Given the description of an element on the screen output the (x, y) to click on. 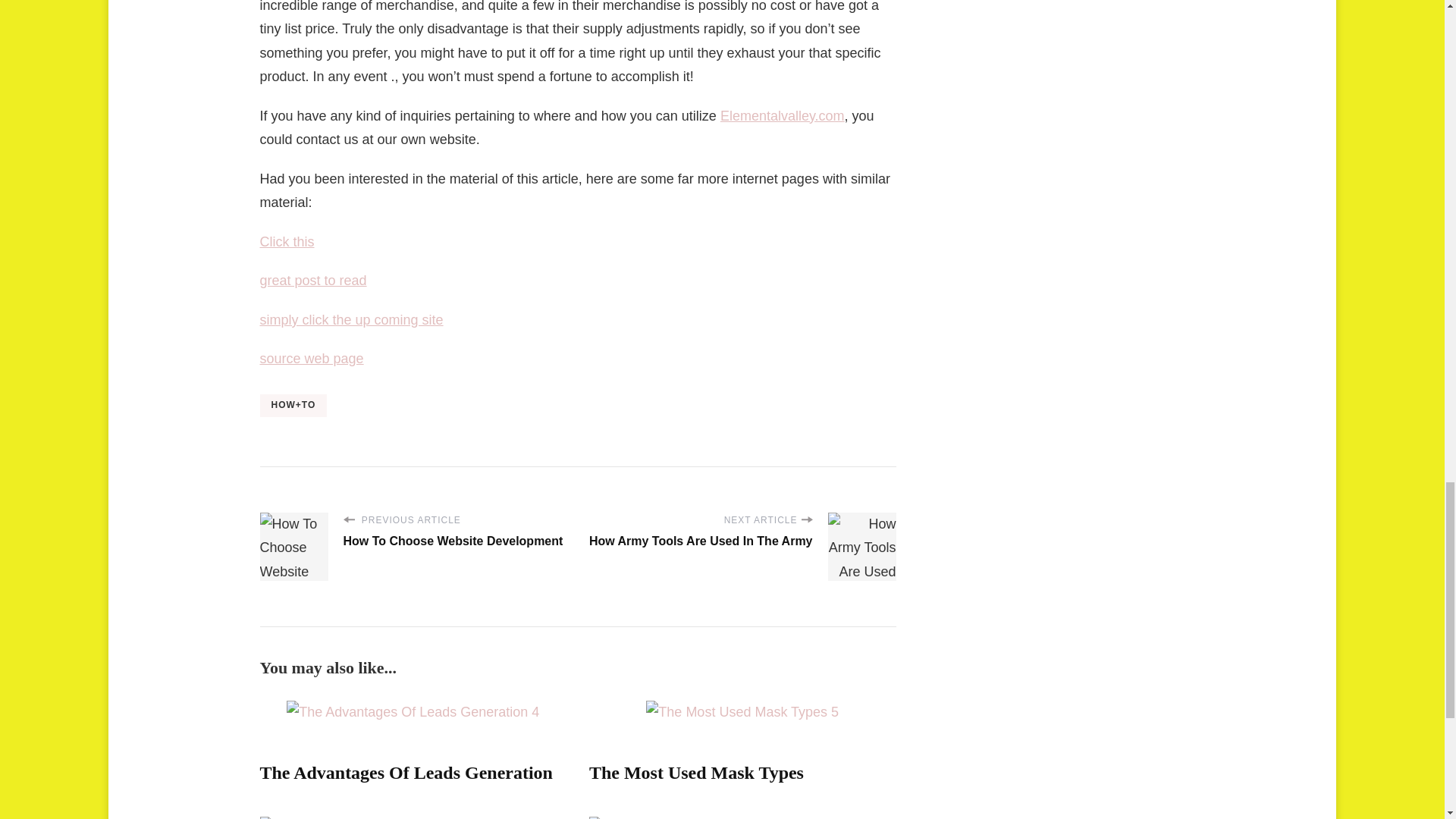
The Most Used Mask Types (696, 772)
Click this (286, 241)
Elementalvalley.com (782, 115)
simply click the up coming site (350, 319)
great post to read (312, 280)
source web page (310, 358)
The Advantages Of Leads Generation (405, 772)
